Given the description of an element on the screen output the (x, y) to click on. 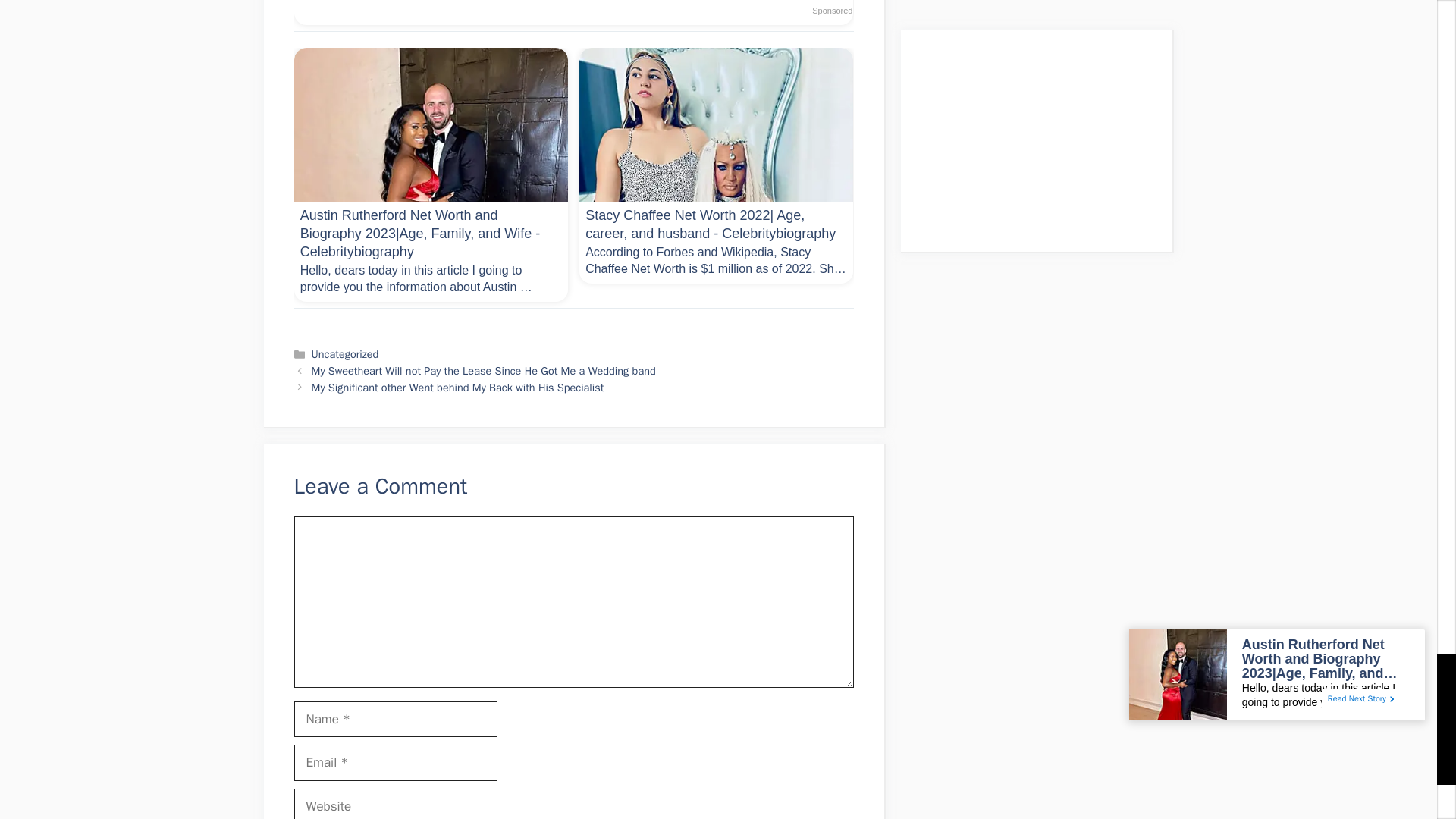
Sponsored (831, 11)
